Given the description of an element on the screen output the (x, y) to click on. 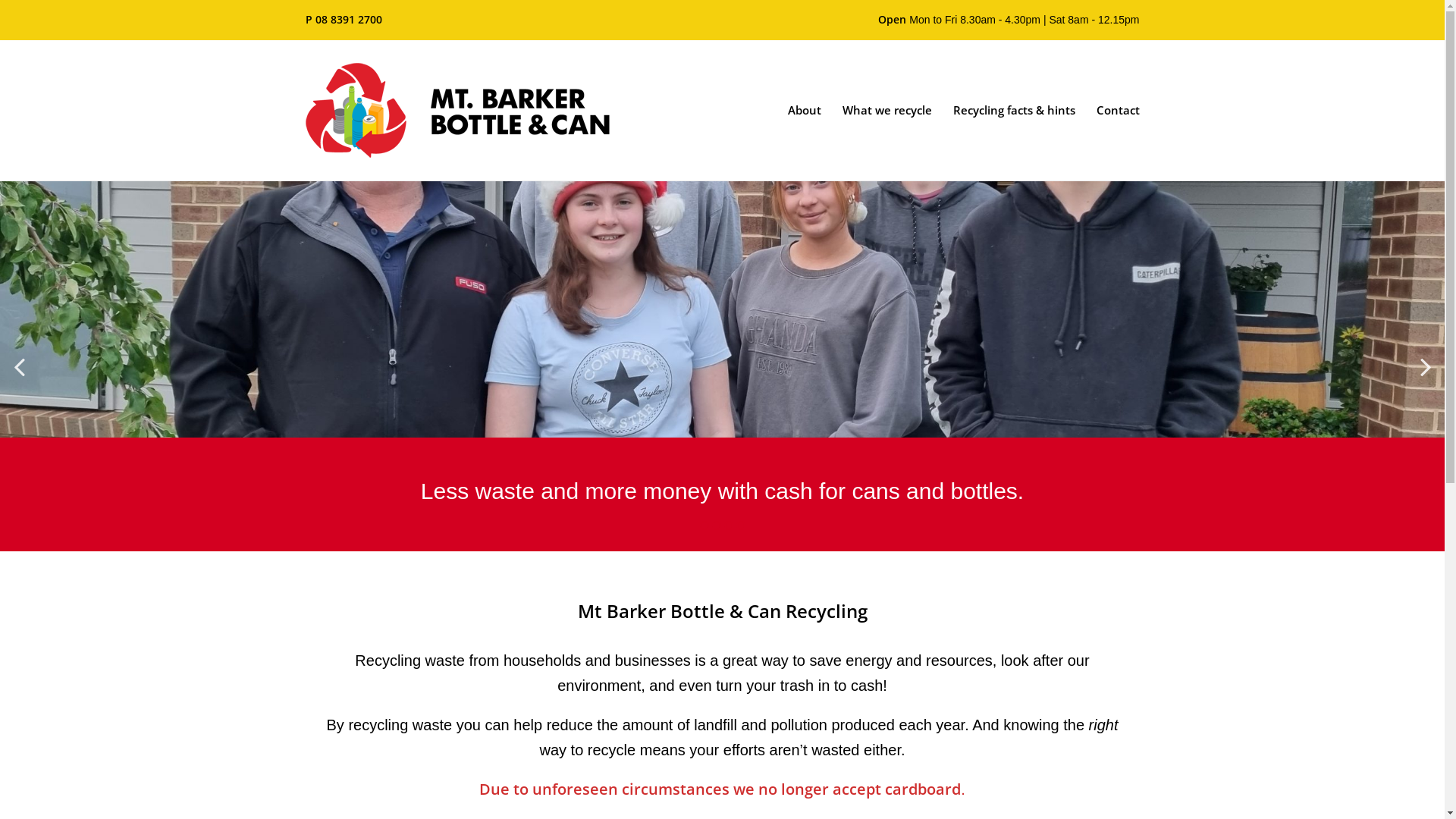
3 Element type: text (727, 525)
Contact Element type: text (1117, 109)
4 Element type: text (739, 525)
What we recycle Element type: text (886, 109)
1 Element type: text (703, 525)
Mt Barker Bottle & Can Recycling Element type: hover (721, 109)
2 Element type: text (715, 525)
Recycling facts & hints Element type: text (1013, 109)
About Element type: text (803, 109)
